Given the description of an element on the screen output the (x, y) to click on. 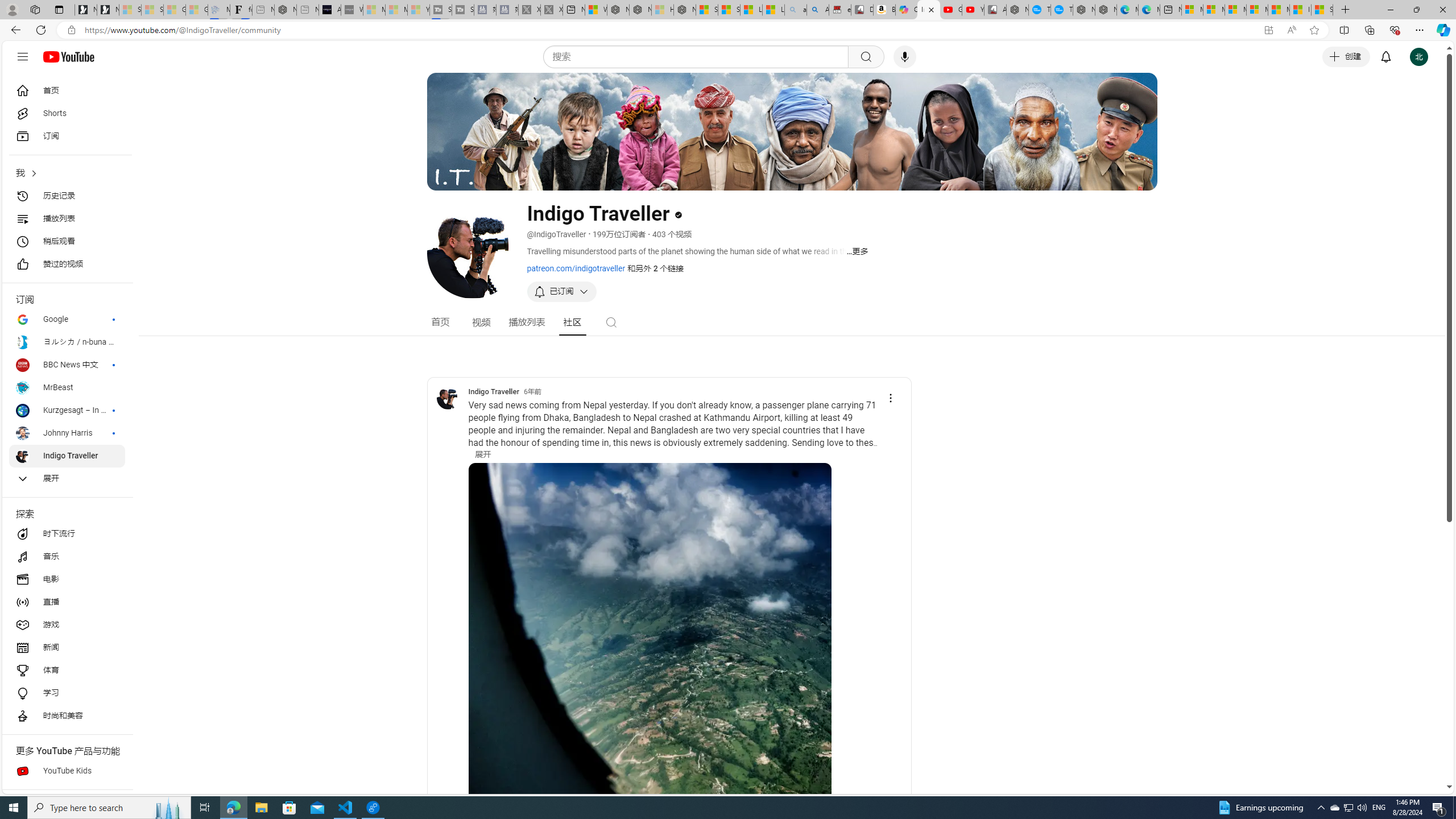
Nordace - My Account (1017, 9)
Microsoft Start Sports - Sleeping (374, 9)
YouTube Kids (66, 771)
Microsoft Start - Sleeping (396, 9)
